Given the description of an element on the screen output the (x, y) to click on. 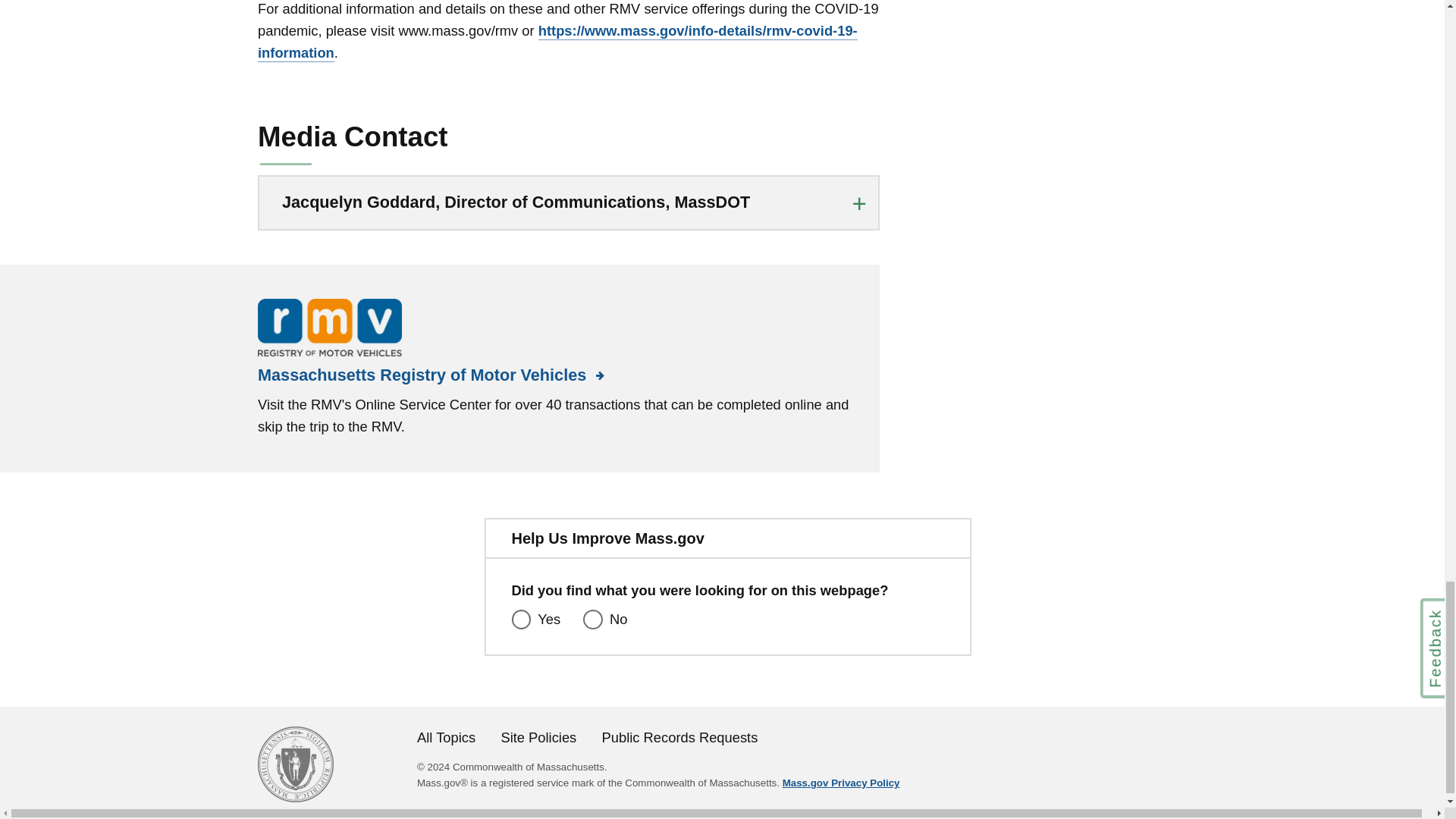
Mass.gov home page (295, 797)
